Given the description of an element on the screen output the (x, y) to click on. 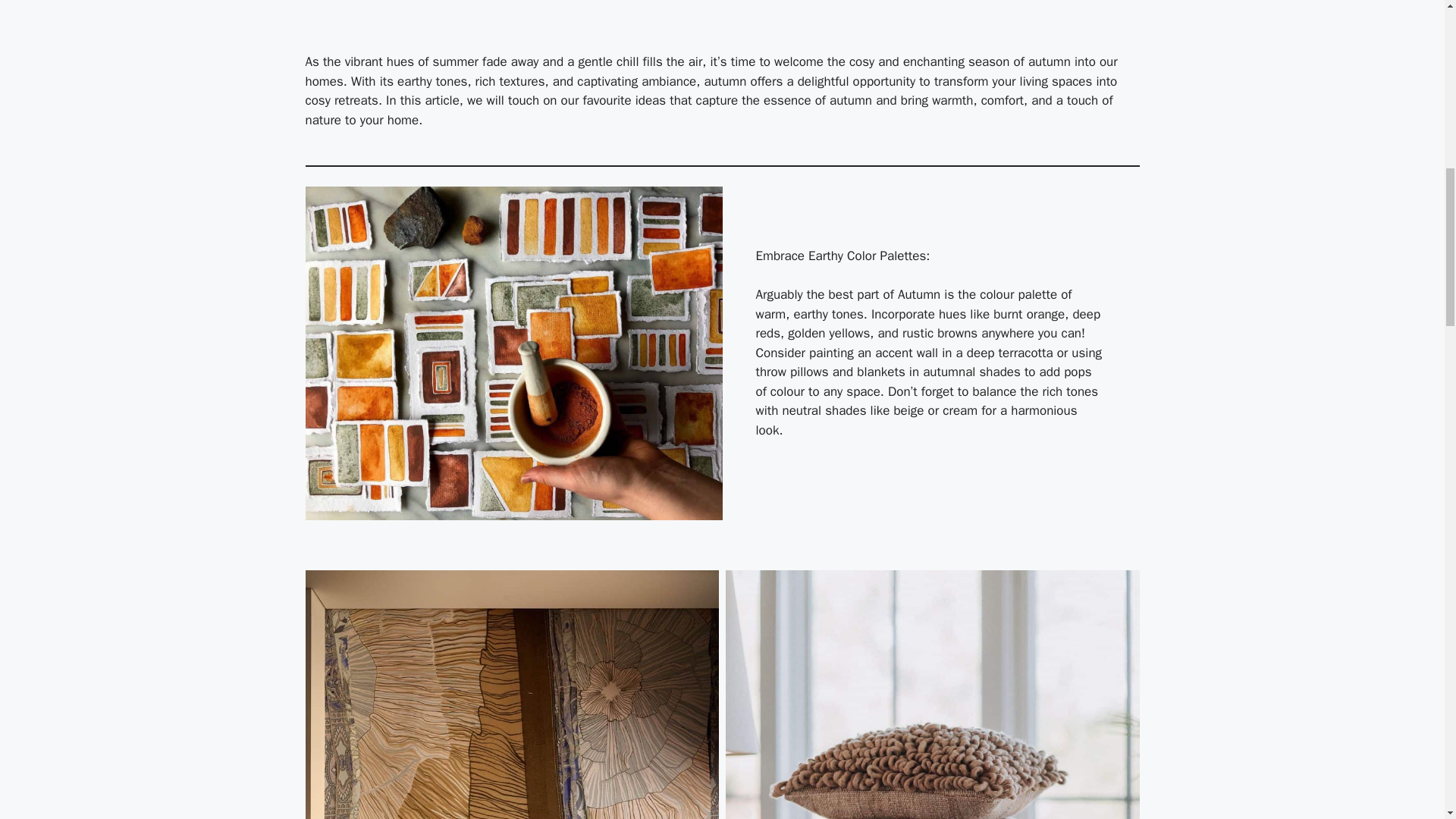
Scroll back to top (1406, 720)
